Given the description of an element on the screen output the (x, y) to click on. 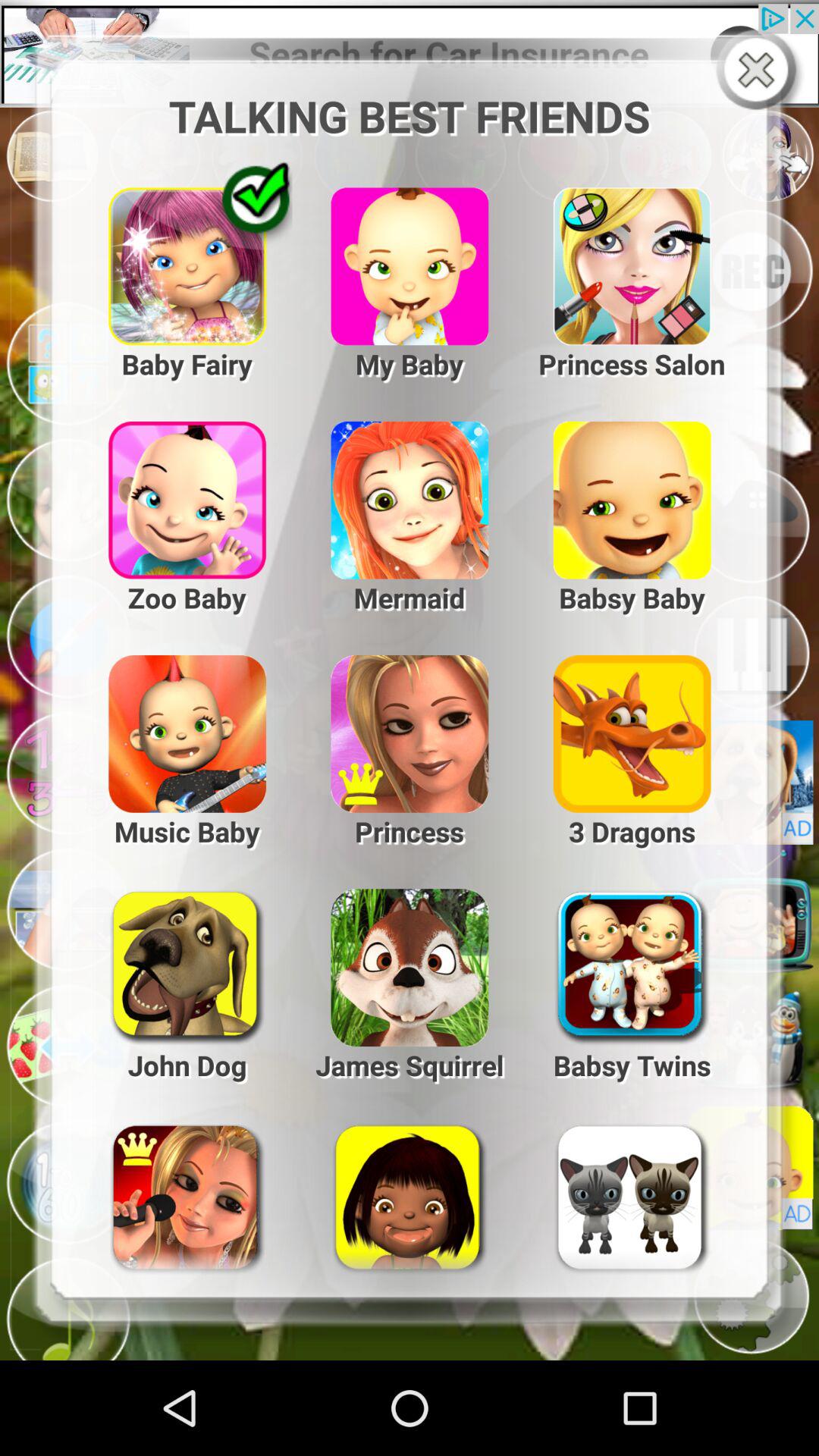
close window (759, 71)
